Given the description of an element on the screen output the (x, y) to click on. 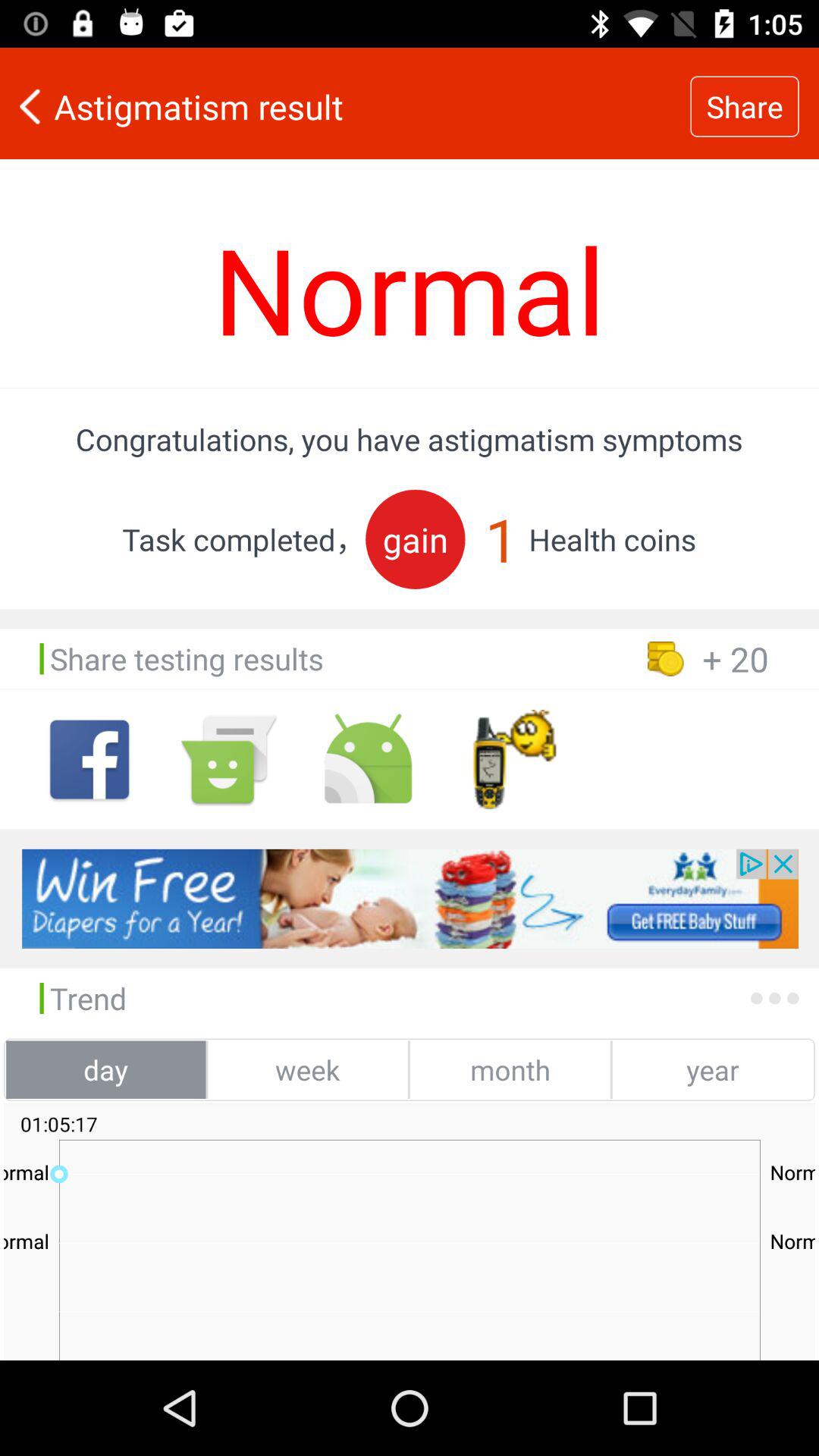
swipe until day item (105, 1069)
